Given the description of an element on the screen output the (x, y) to click on. 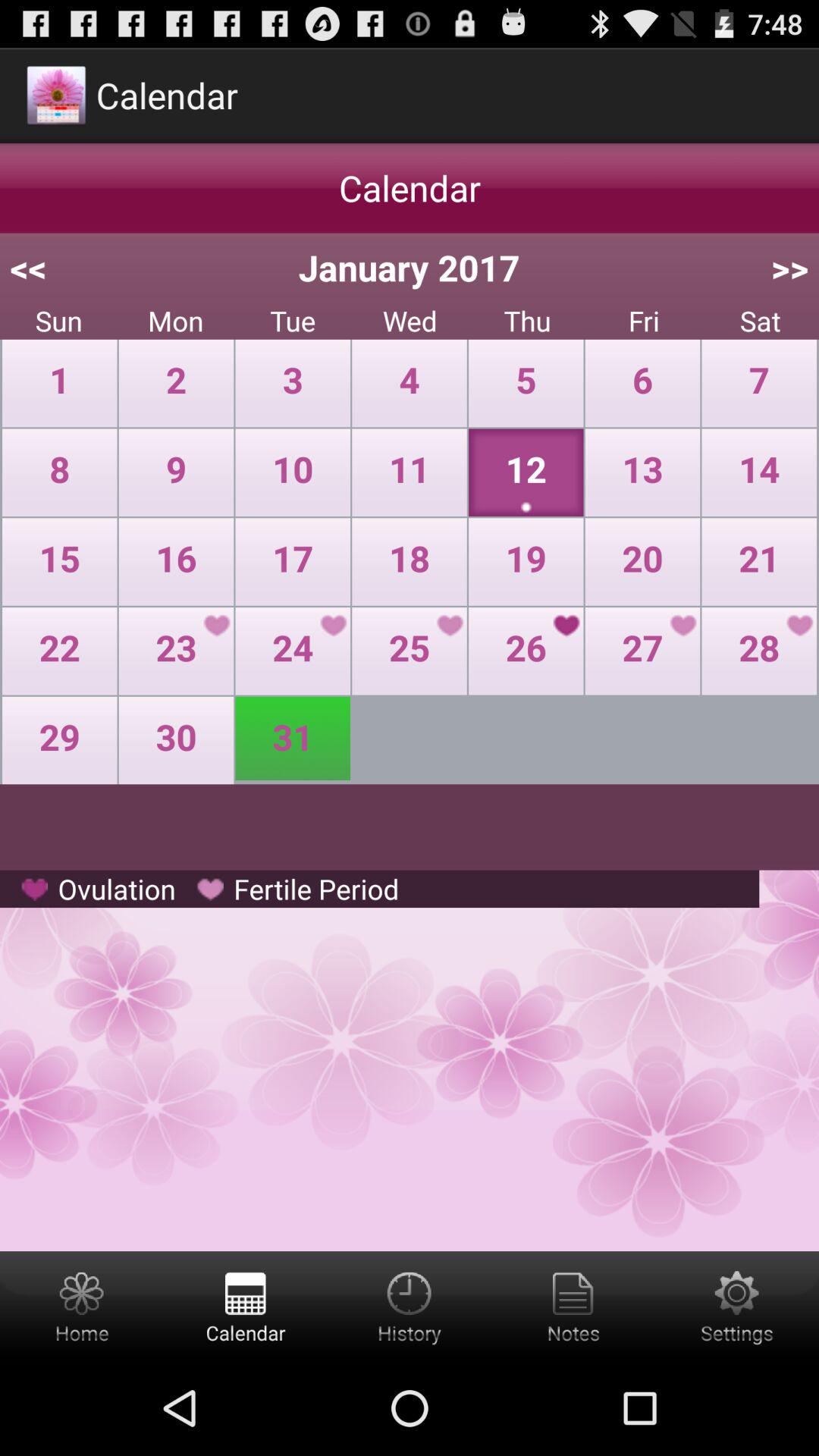
settings button (737, 1305)
